Given the description of an element on the screen output the (x, y) to click on. 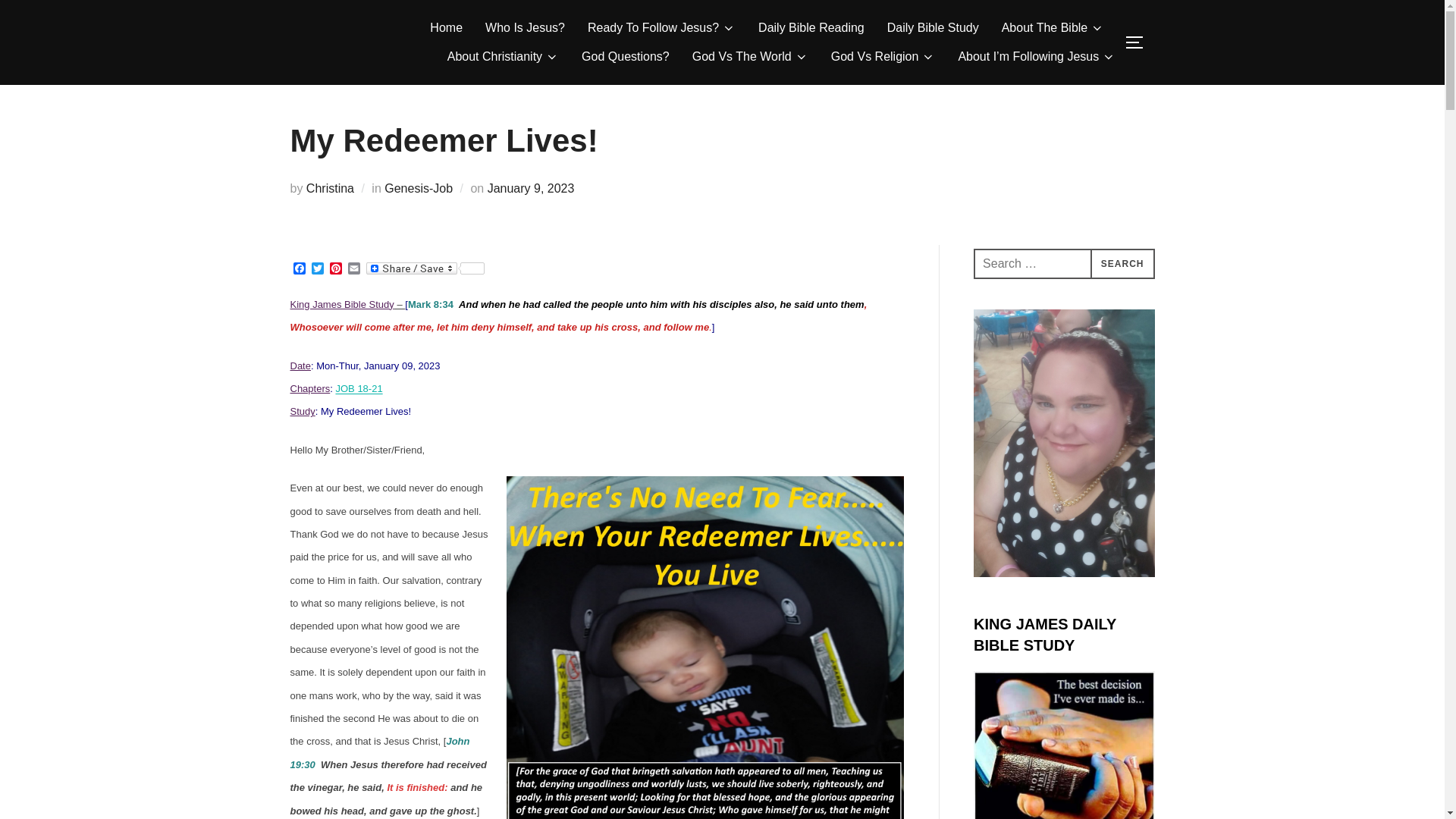
Email (352, 269)
Pinterest (334, 269)
Twitter (316, 269)
Facebook (298, 269)
